Given the description of an element on the screen output the (x, y) to click on. 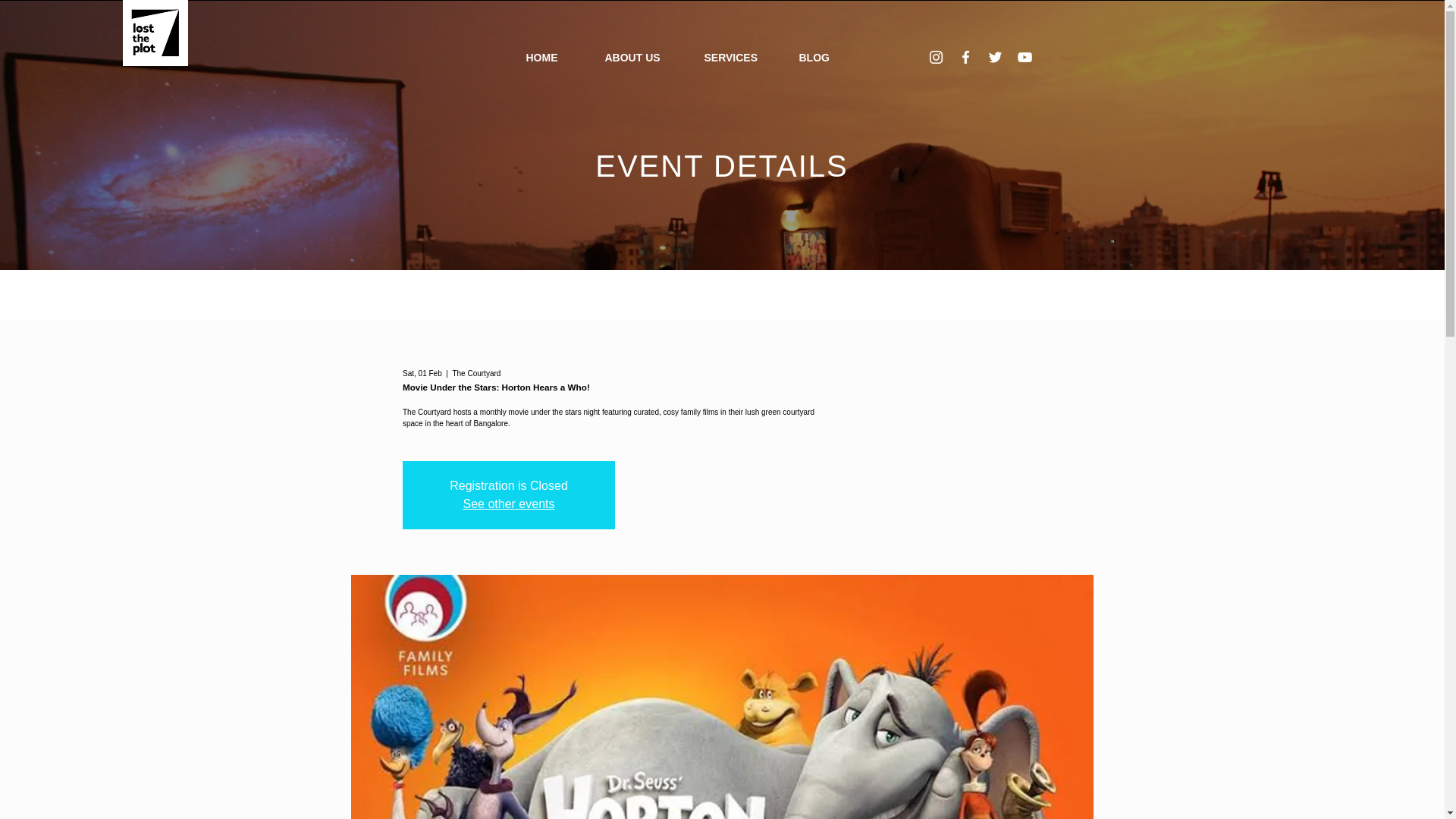
SERVICES (740, 57)
See other events (508, 503)
ABOUT US (642, 57)
HOME (552, 57)
BLOG (824, 57)
